Given the description of an element on the screen output the (x, y) to click on. 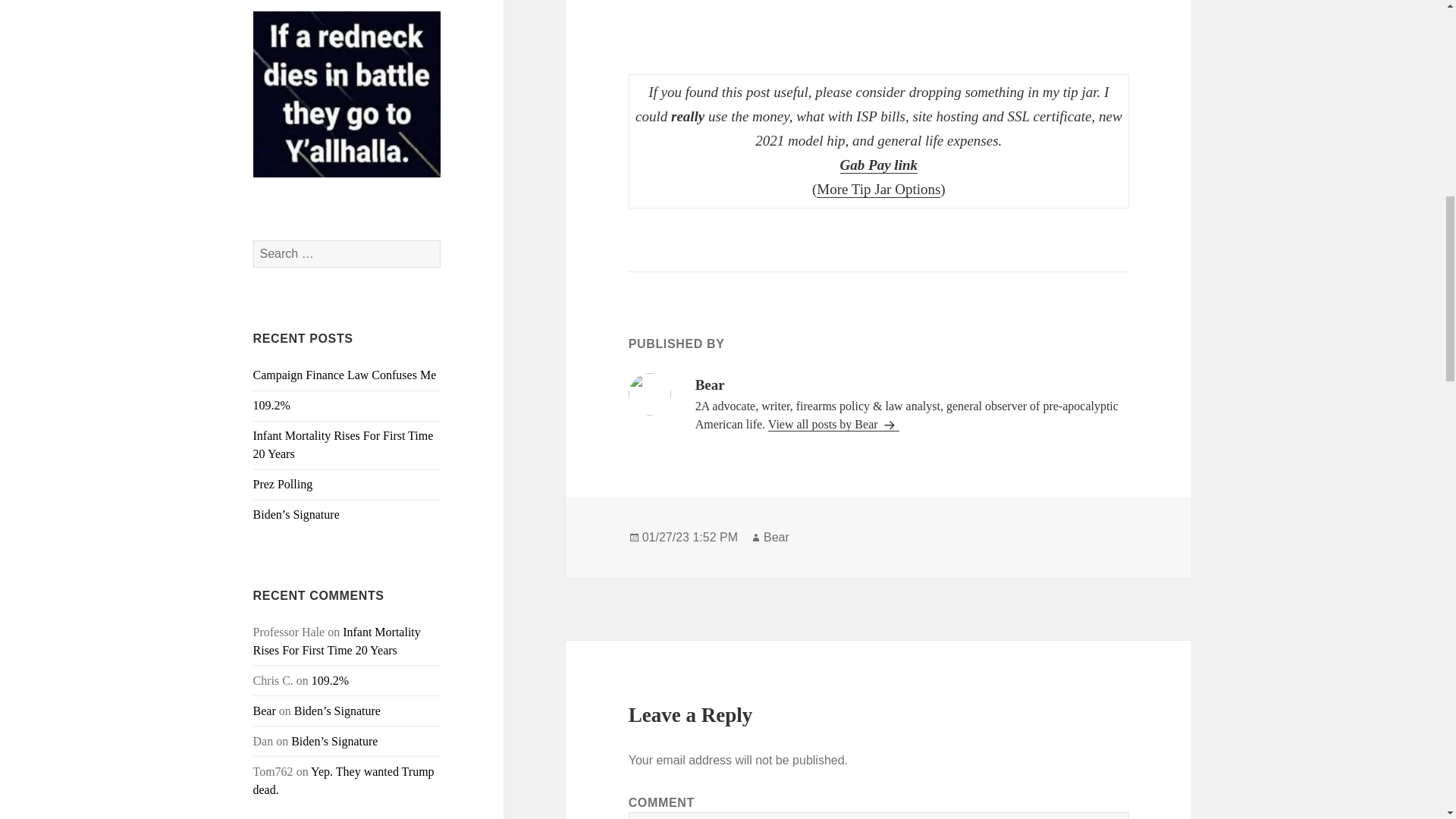
Bear (264, 710)
Infant Mortality Rises For First Time 20 Years (343, 444)
Campaign Finance Law Confuses Me (344, 374)
Yep. They wanted Trump dead. (343, 780)
Prez Polling (283, 483)
Infant Mortality Rises For First Time 20 Years (336, 640)
